Given the description of an element on the screen output the (x, y) to click on. 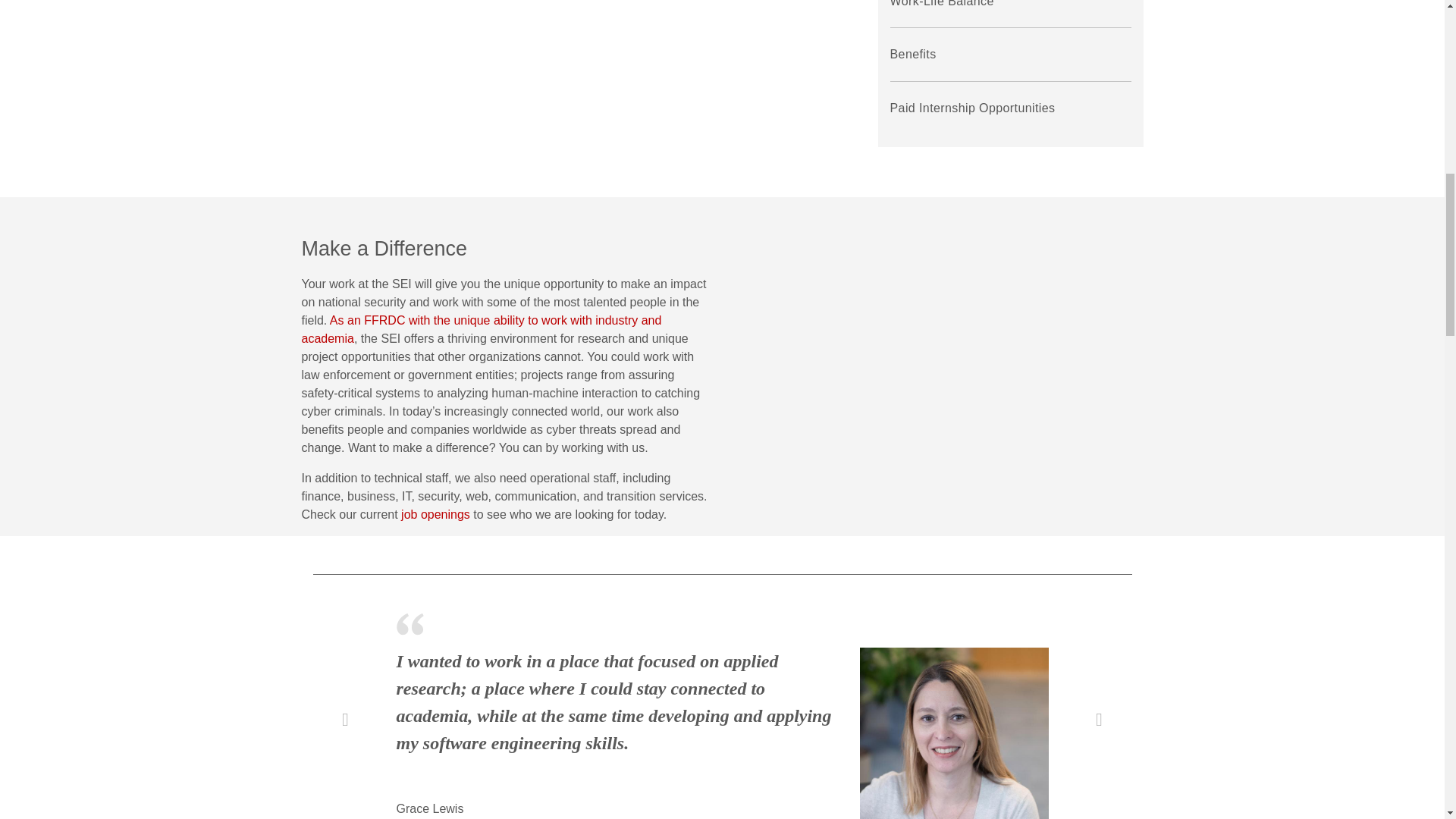
quotes (409, 623)
